Given the description of an element on the screen output the (x, y) to click on. 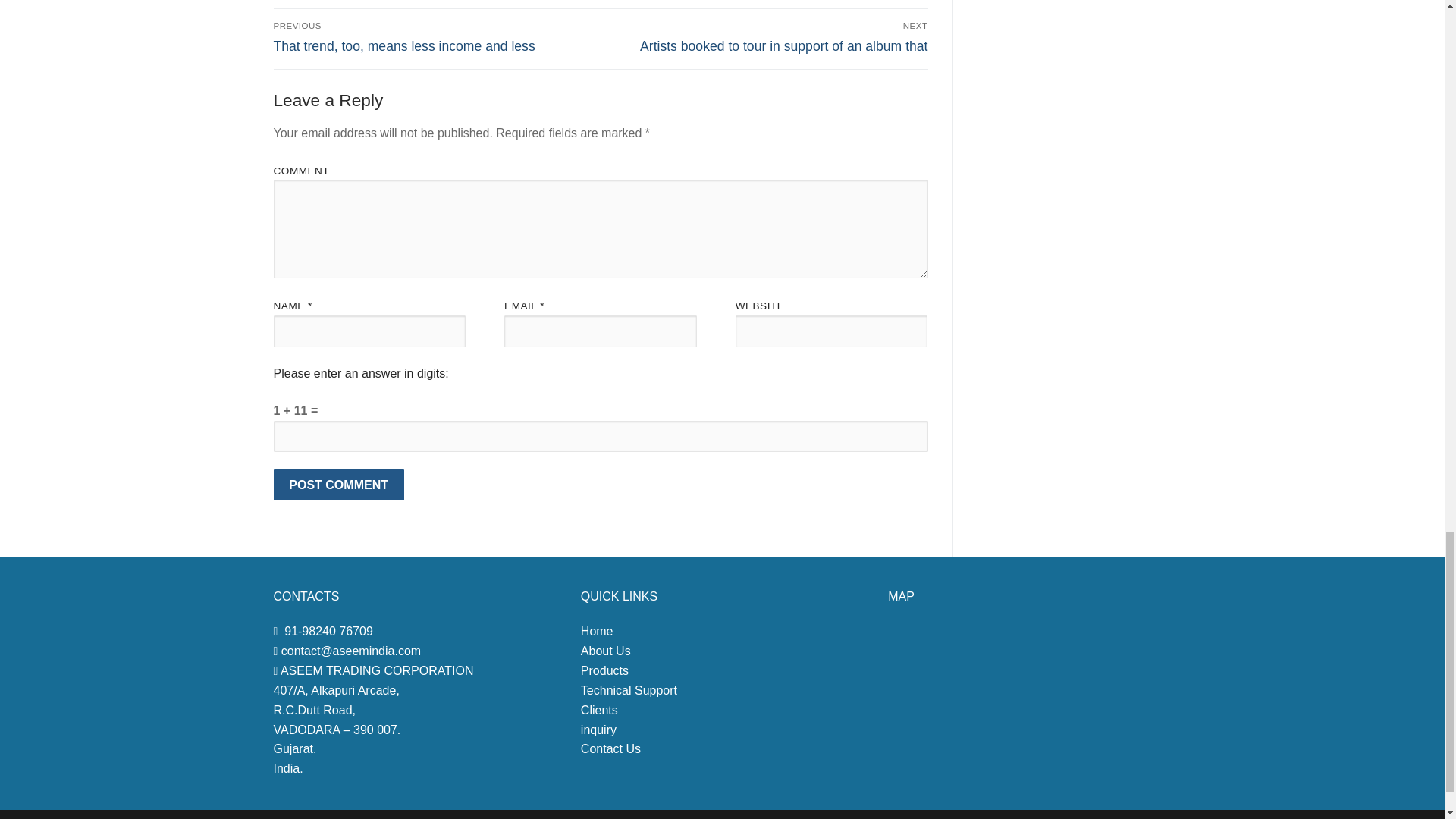
Post Comment (338, 485)
Post Comment (338, 485)
